Given the description of an element on the screen output the (x, y) to click on. 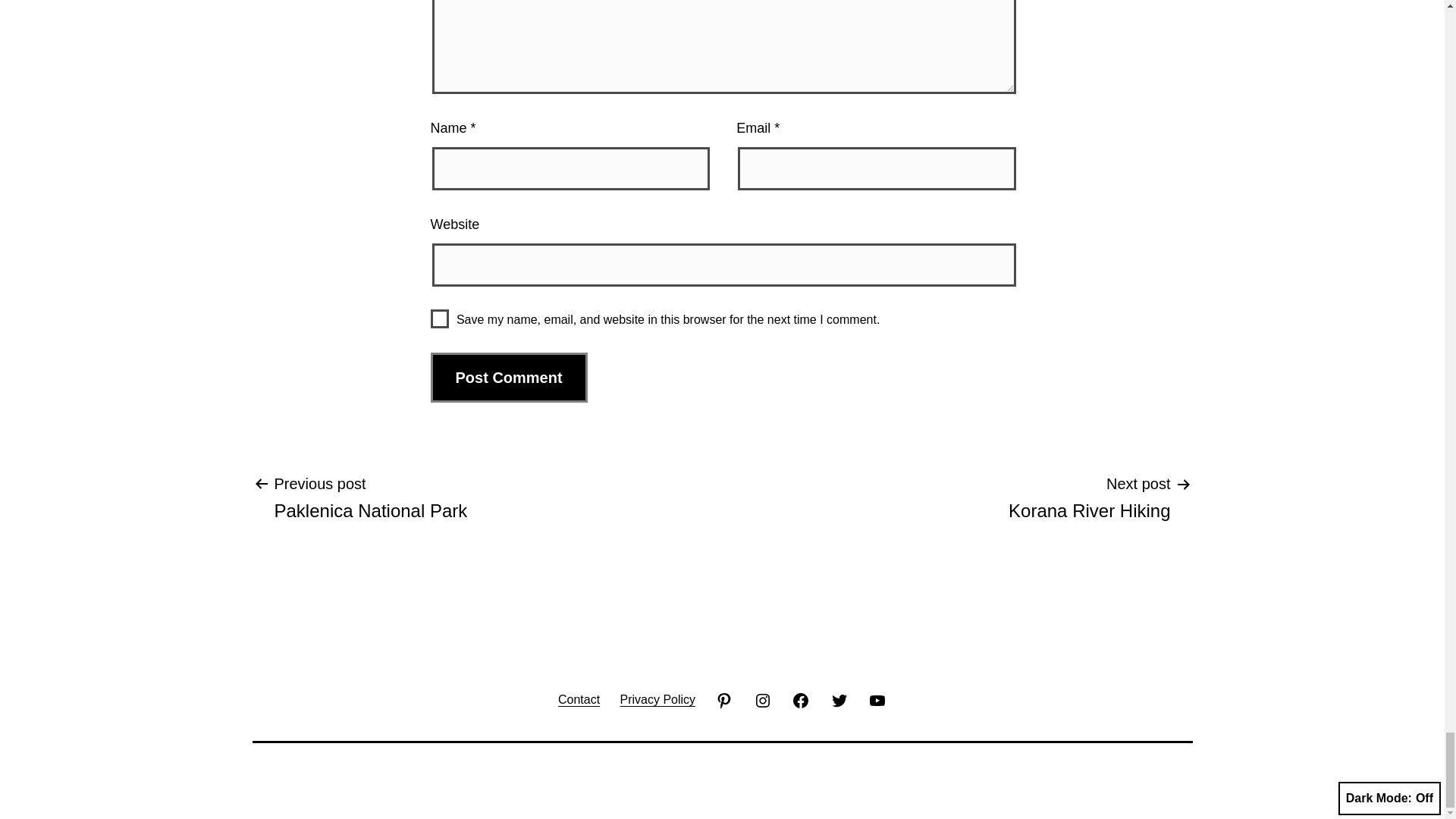
Contact (579, 699)
Twitter (838, 699)
Post Comment (509, 377)
yes (439, 318)
Instagram (370, 496)
Facebook (762, 699)
Privacy Policy (800, 699)
Pinterest (657, 699)
